Given the description of an element on the screen output the (x, y) to click on. 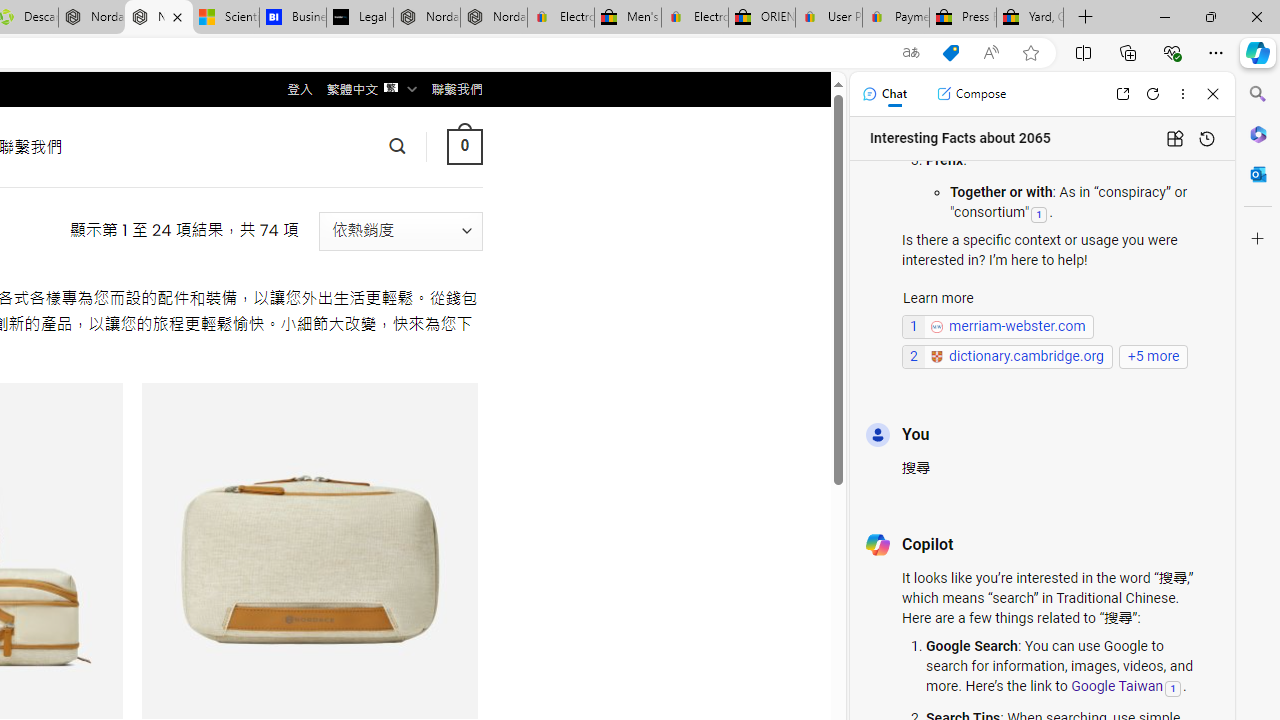
Compose (971, 93)
  0   (464, 146)
Minimize Search pane (1258, 94)
